Given the description of an element on the screen output the (x, y) to click on. 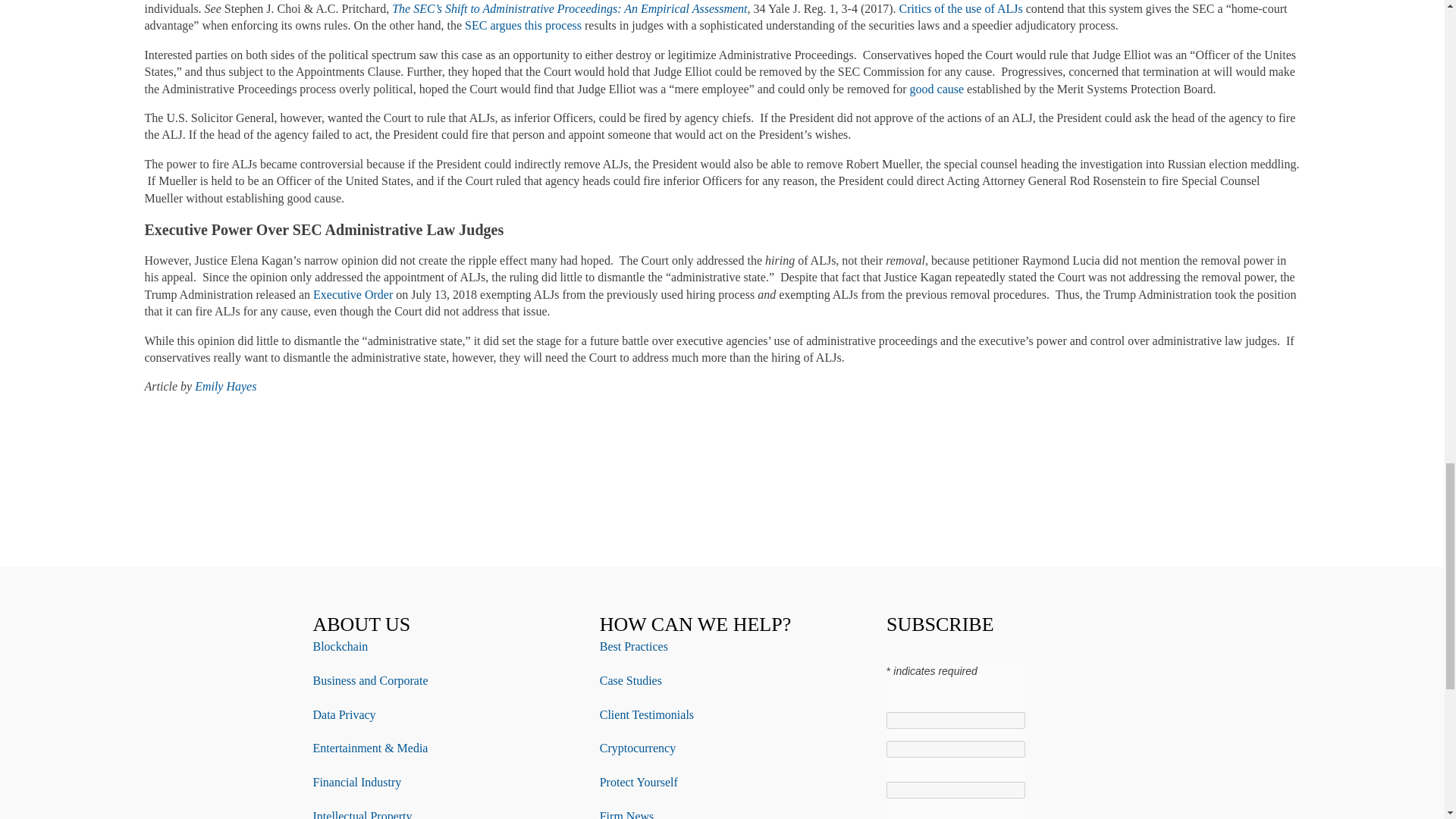
Executive Order (353, 294)
Emily Hayes (225, 386)
Client Testimonials (646, 714)
Critics of the use of ALJs (961, 8)
good cause (936, 88)
Blockchain (340, 645)
Best Practices (633, 645)
Data Privacy (344, 714)
Case Studies (630, 680)
Financial Industry (357, 781)
